Given the description of an element on the screen output the (x, y) to click on. 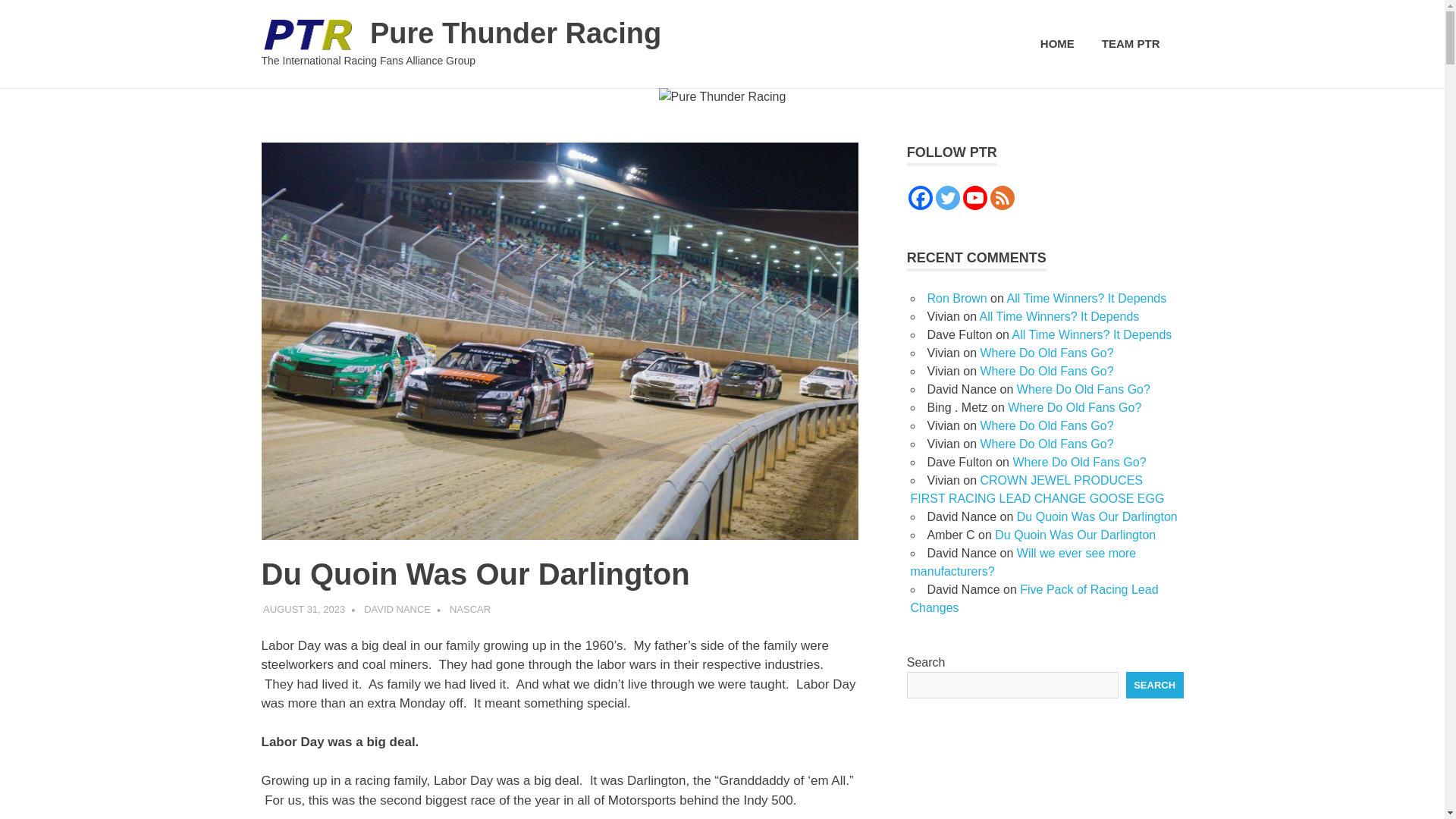
TEAM PTR (1135, 44)
View all posts by David Nance (397, 609)
HOME (1056, 44)
Facebook (920, 197)
AUGUST 31, 2023 (304, 609)
Twitter (947, 197)
10:47 (304, 609)
Pure Thunder Racing (515, 33)
Youtube Channel (974, 197)
NASCAR (469, 609)
